Given the description of an element on the screen output the (x, y) to click on. 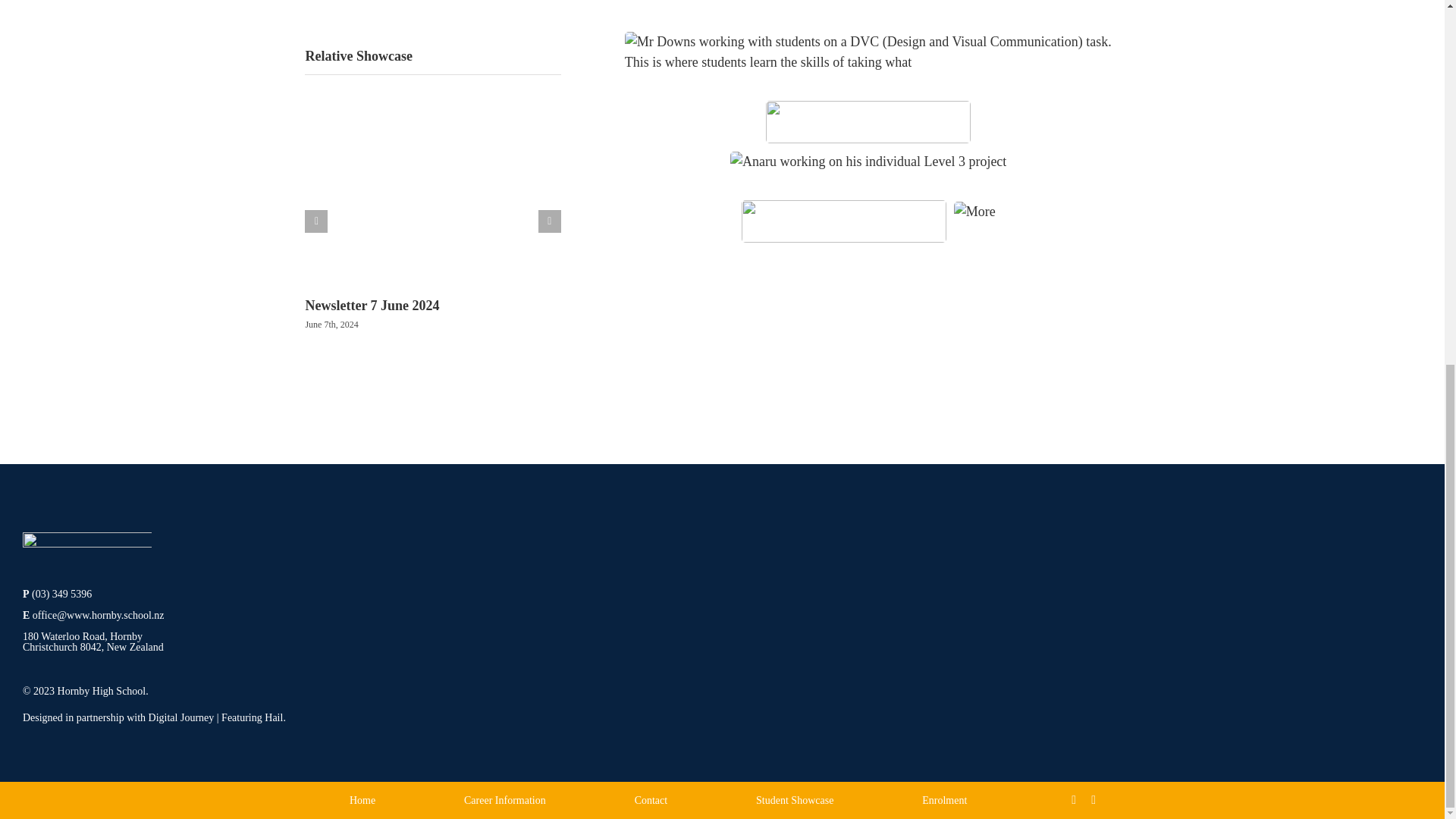
YouTube (1093, 799)
Newsletter 7 June 2024 (371, 305)
Facebook (1073, 799)
